Given the description of an element on the screen output the (x, y) to click on. 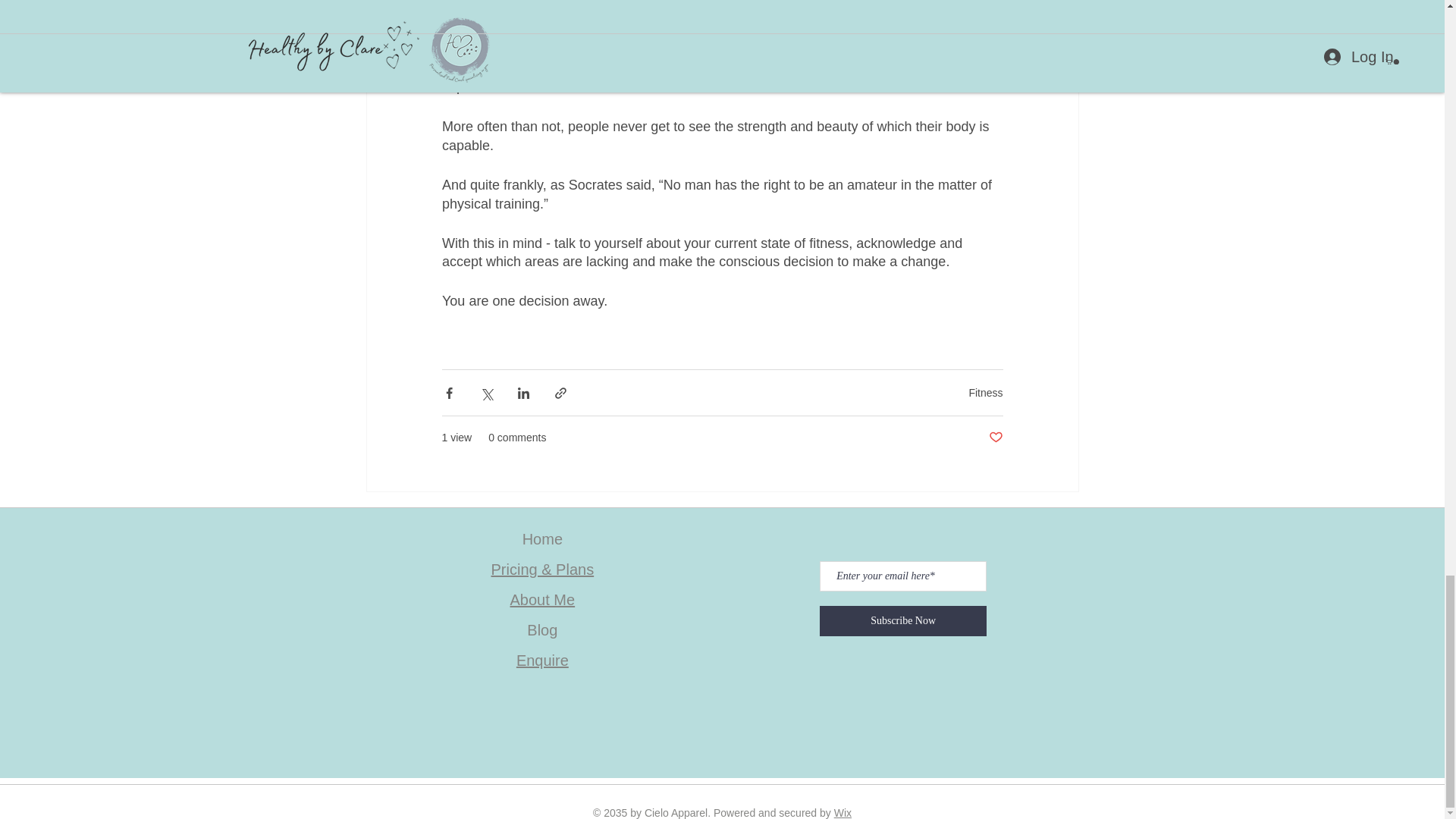
Subscribe Now (903, 621)
Post not marked as liked (995, 437)
Home (542, 538)
About Me (543, 599)
Fitness (985, 392)
Blog (542, 629)
Enquire (542, 660)
